Given the description of an element on the screen output the (x, y) to click on. 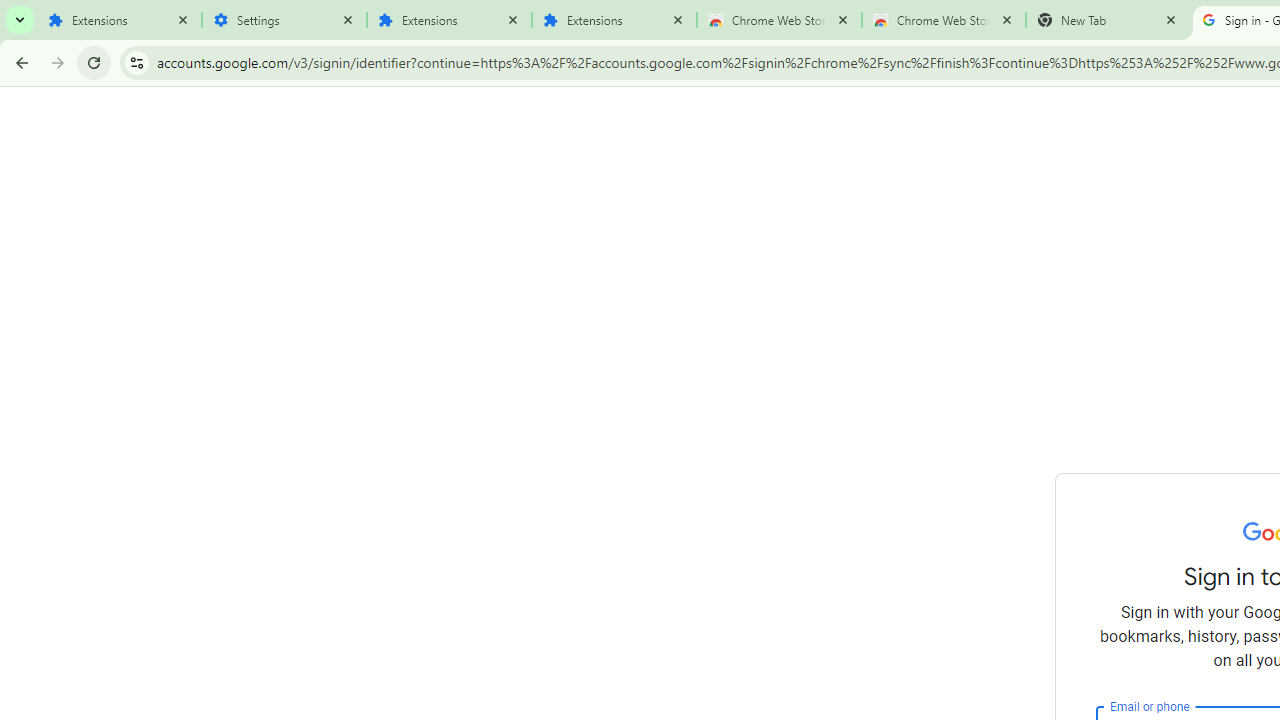
Extensions (119, 20)
Settings (284, 20)
Chrome Web Store - Themes (943, 20)
Extensions (449, 20)
Chrome Web Store (779, 20)
New Tab (1108, 20)
Extensions (614, 20)
